Given the description of an element on the screen output the (x, y) to click on. 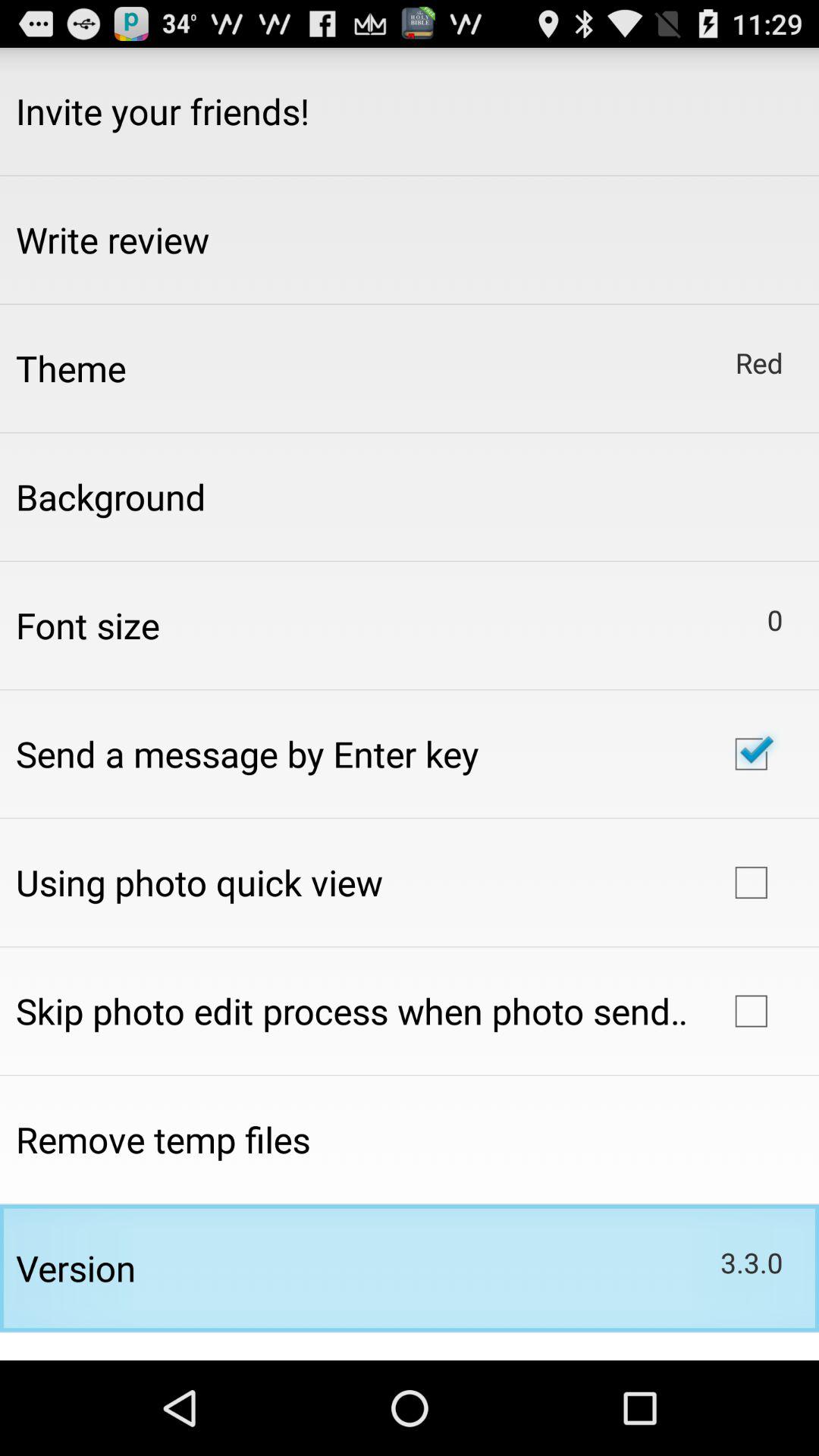
launch using photo quick item (198, 882)
